Given the description of an element on the screen output the (x, y) to click on. 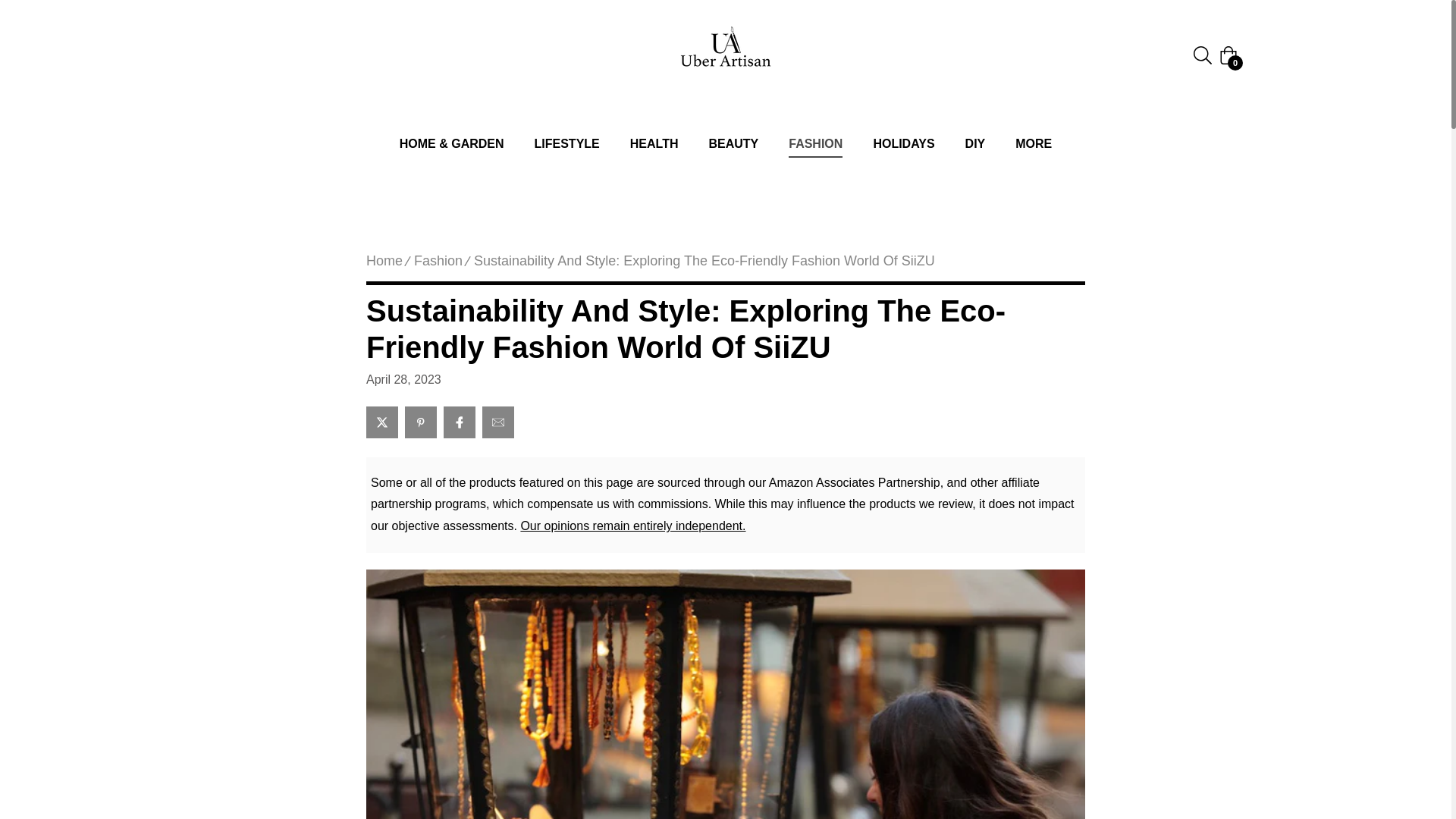
HOLIDAYS (903, 144)
Home (384, 260)
BEAUTY (733, 144)
Shopping Cart (1228, 54)
FASHION (815, 144)
HEALTH (654, 144)
LIFESTYLE (566, 144)
Fashion (438, 260)
